Given the description of an element on the screen output the (x, y) to click on. 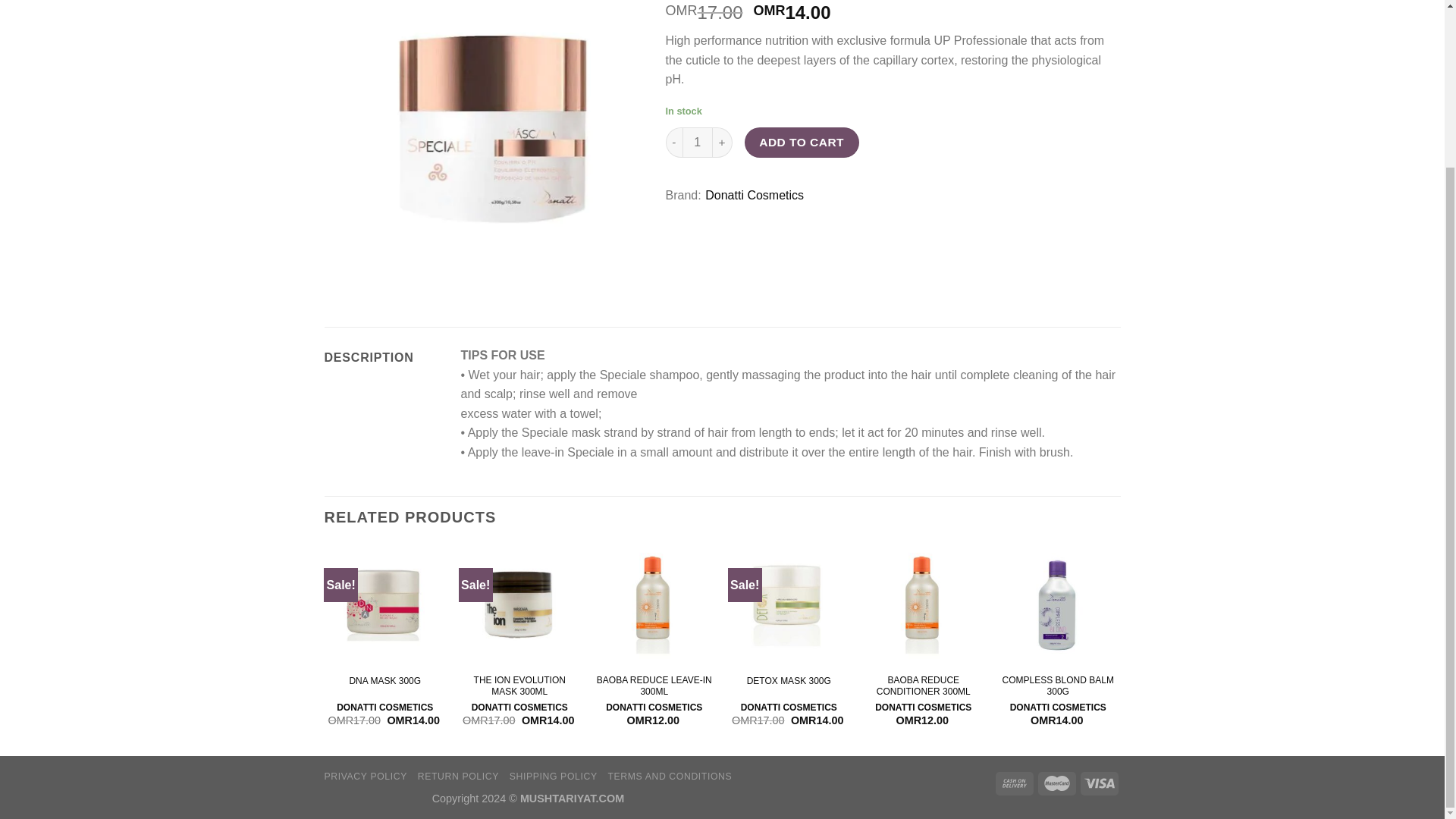
1 (697, 142)
View brand (753, 195)
SPECIALE MASK 300ML (493, 148)
